Given the description of an element on the screen output the (x, y) to click on. 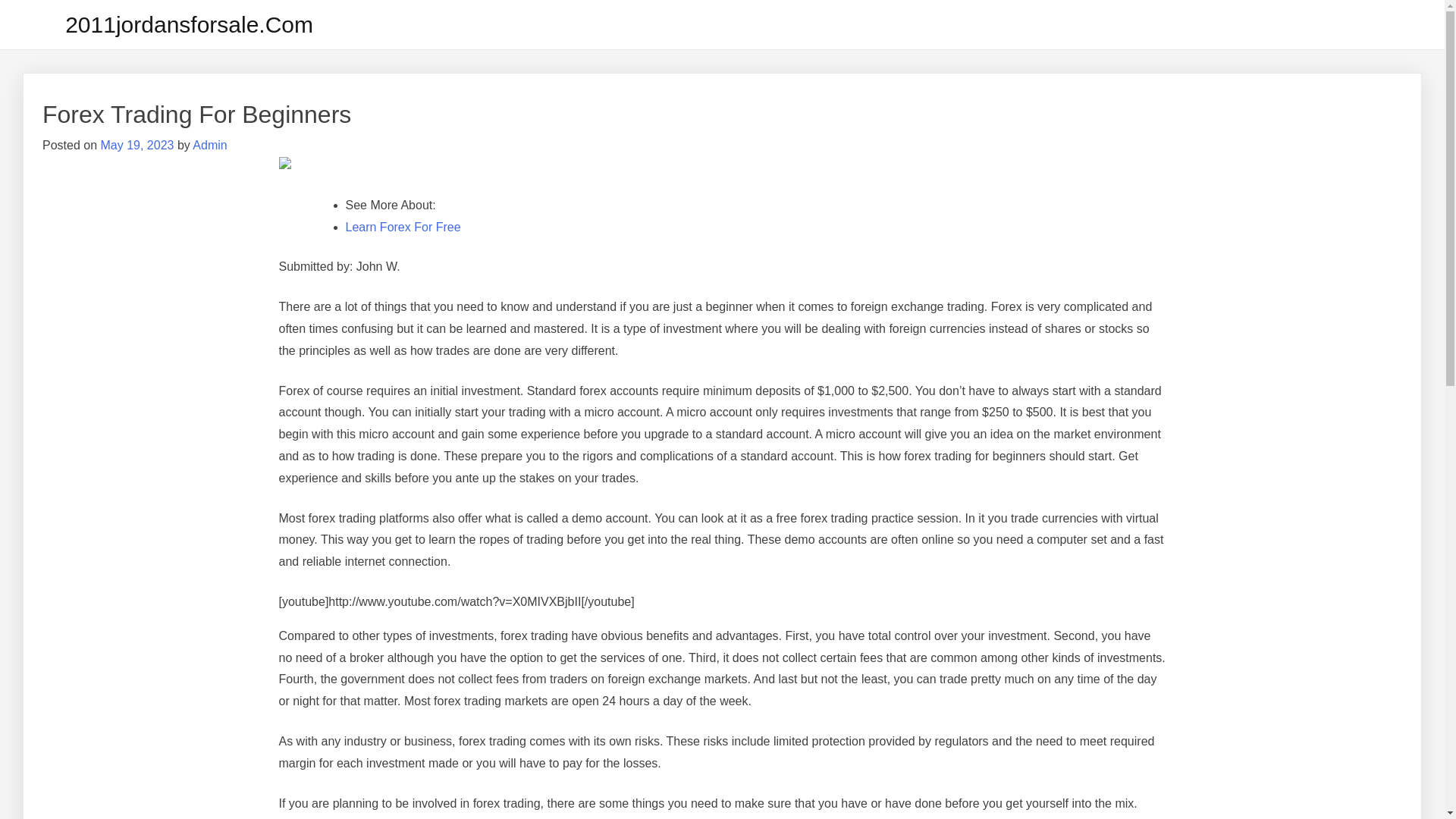
Learn Forex For Free Element type: text (403, 226)
2011jordansforsale.Com Element type: text (189, 24)
May 19, 2023 Element type: text (136, 144)
Admin Element type: text (209, 144)
